Given the description of an element on the screen output the (x, y) to click on. 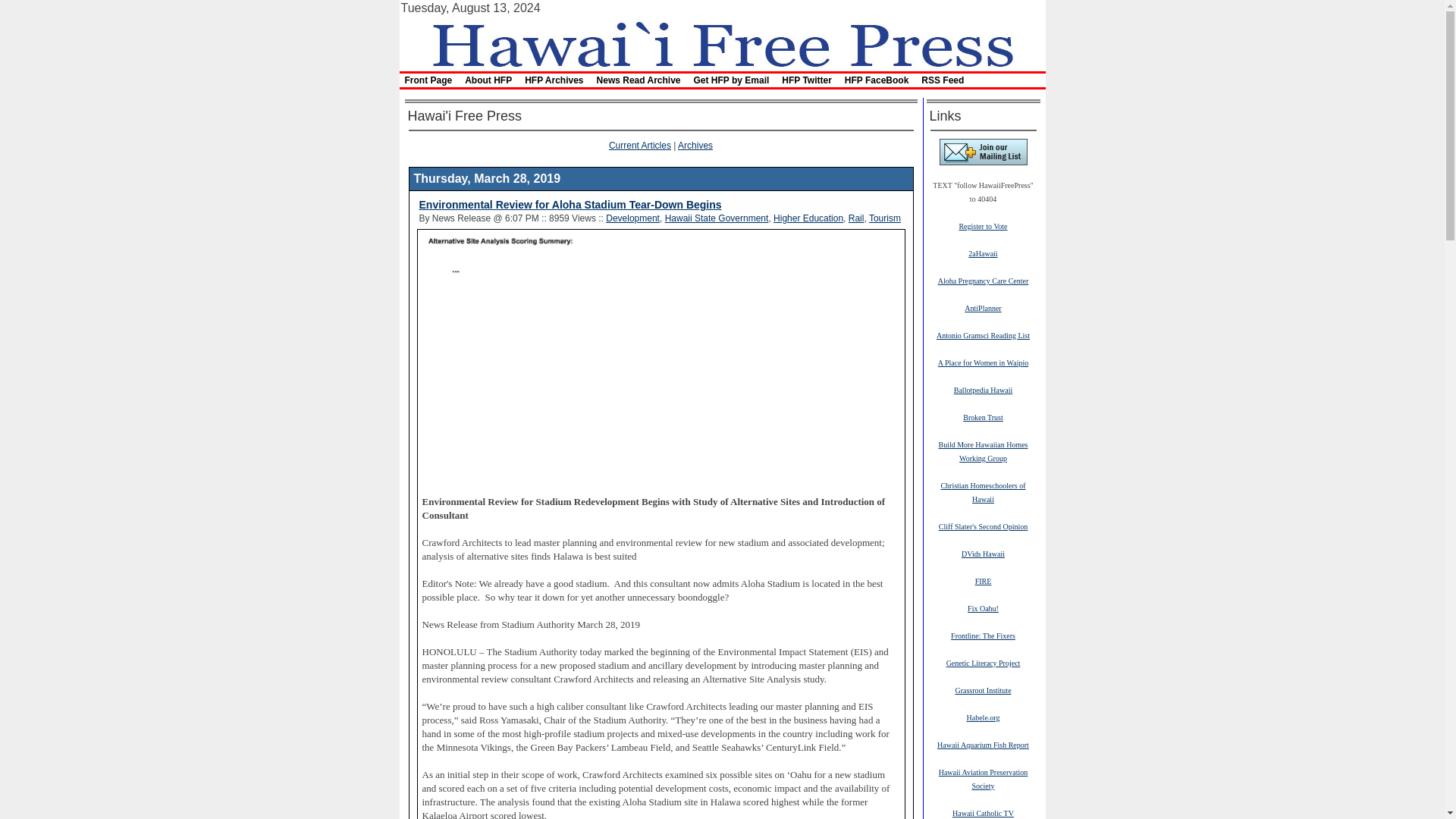
Environmental Review for Aloha Stadium Tear-Down Begins (569, 204)
DVids Hawaii (982, 552)
2aHawaii (982, 253)
Cliff Slater's Second Opinion (983, 525)
Broken Trust (982, 416)
FIRE (983, 580)
Fix Oahu! (983, 607)
Tourism (885, 217)
Archives (695, 145)
Habele.org (983, 716)
